Given the description of an element on the screen output the (x, y) to click on. 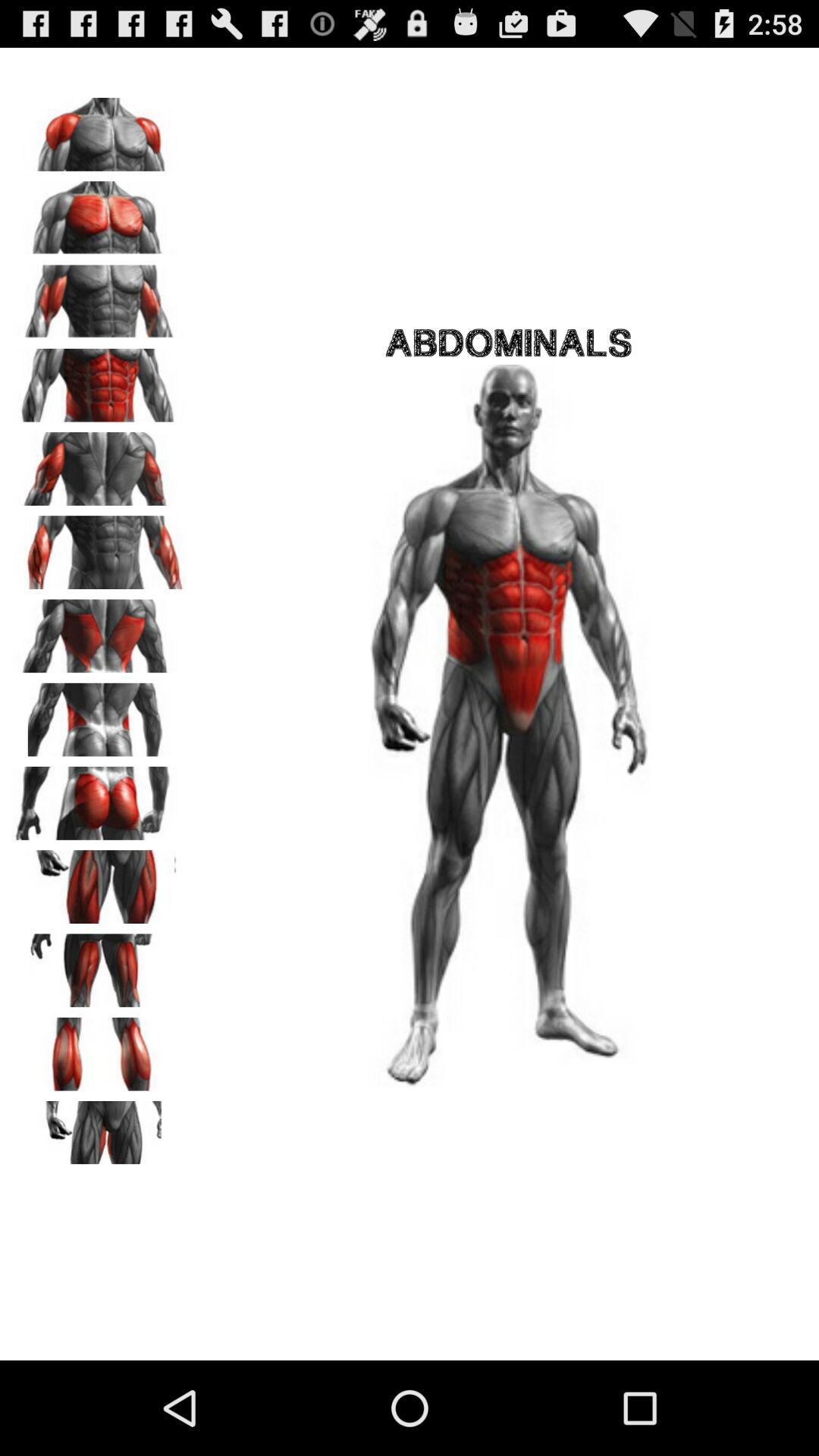
highlight pectorals (99, 212)
